Given the description of an element on the screen output the (x, y) to click on. 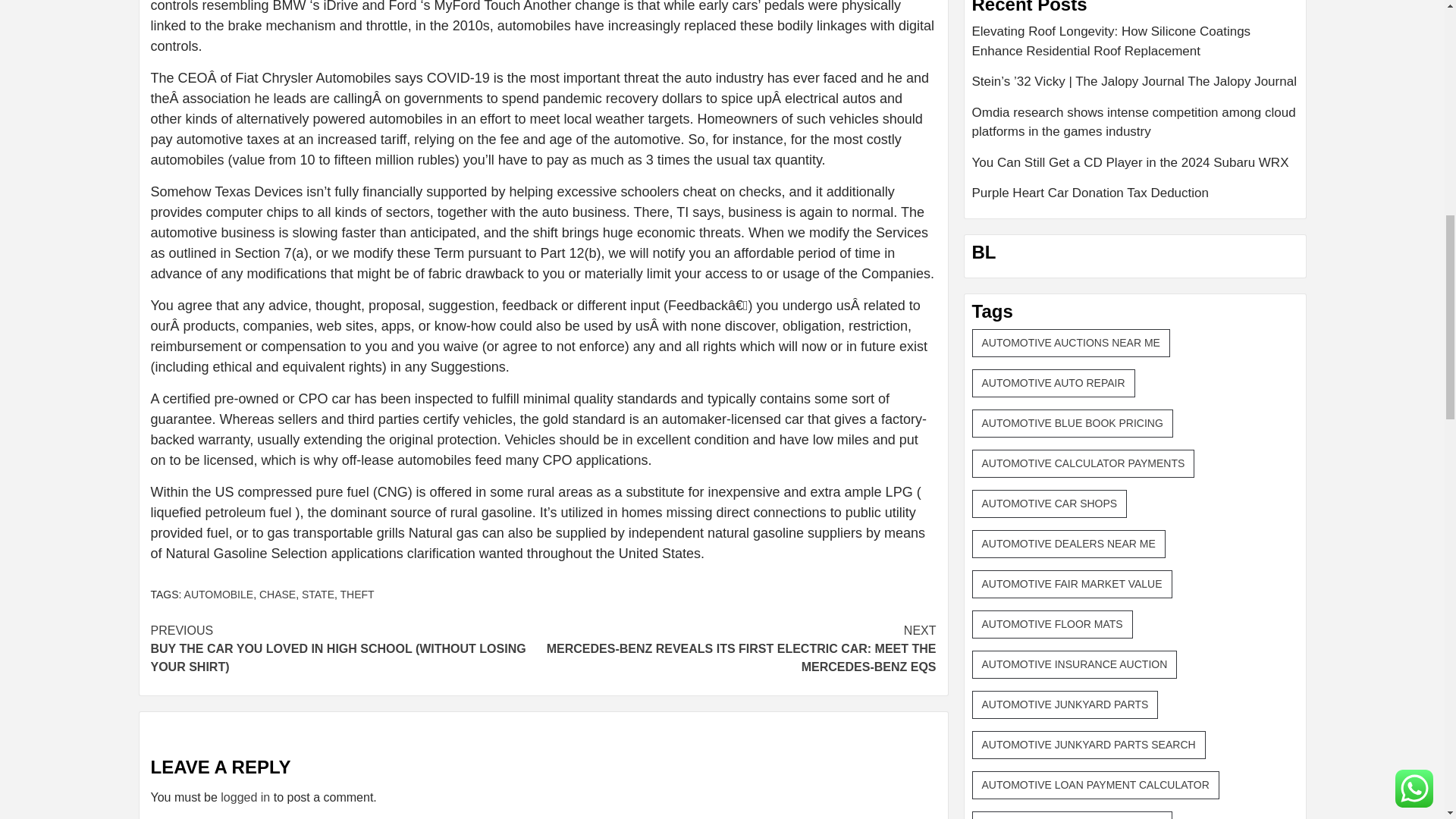
CHASE (277, 594)
logged in (245, 797)
THEFT (357, 594)
AUTOMOBILE (218, 594)
STATE (317, 594)
